Given the description of an element on the screen output the (x, y) to click on. 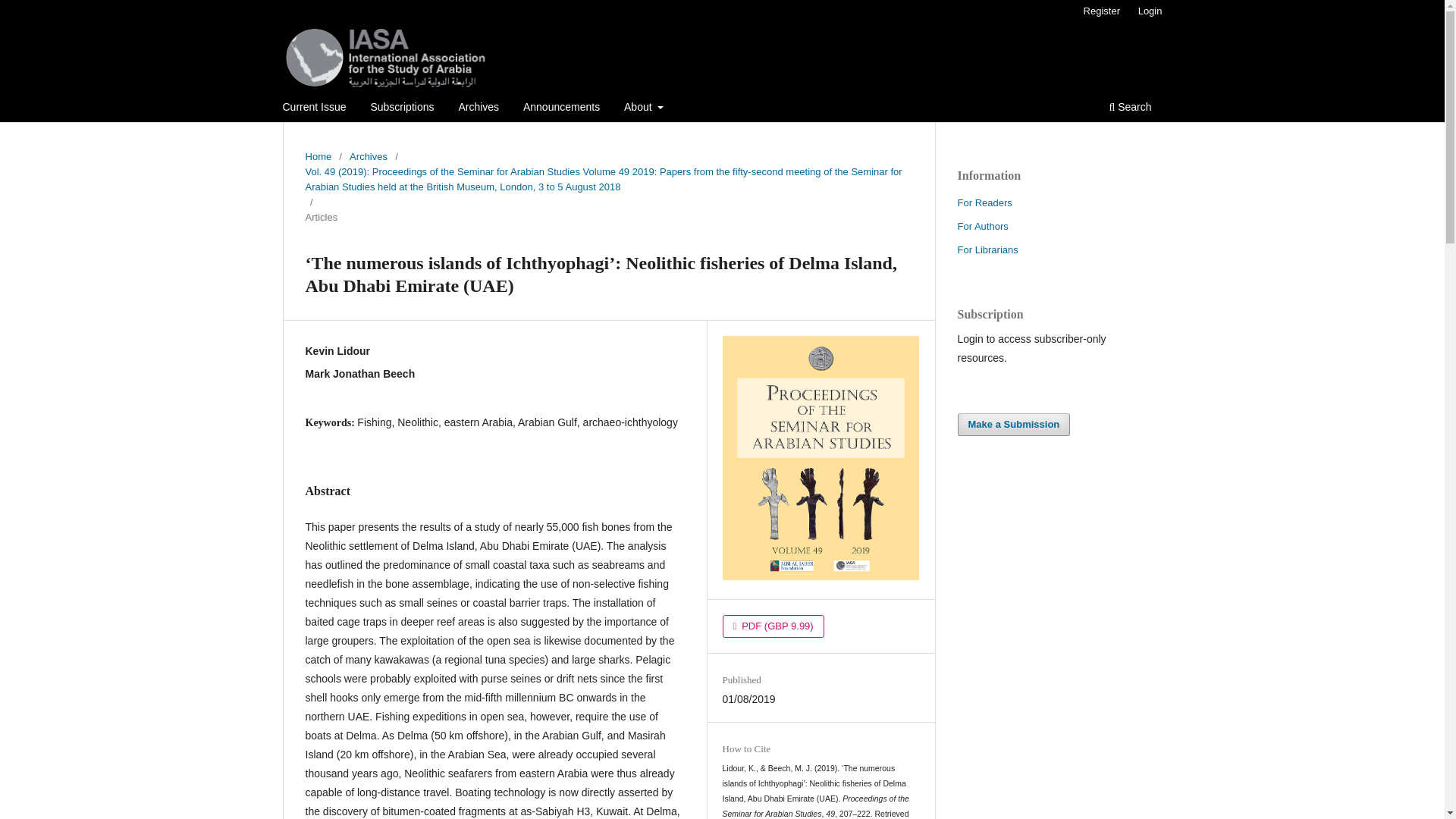
Archives (368, 156)
Announcements (561, 108)
Search (1129, 108)
Home (317, 156)
Register (1100, 11)
Subscriptions (402, 108)
Current Issue (315, 108)
Login (1150, 11)
Archives (477, 108)
About (643, 108)
